Given the description of an element on the screen output the (x, y) to click on. 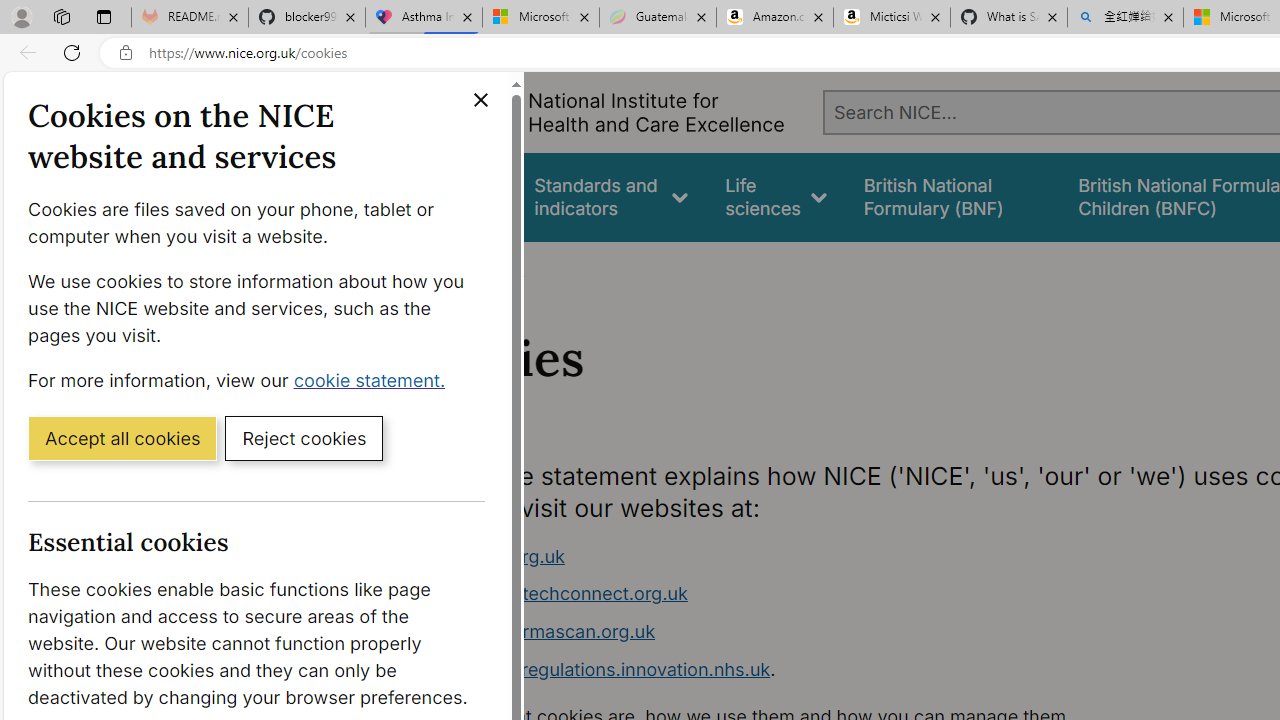
About (498, 268)
Home> (433, 268)
www.digitalregulations.innovation.nhs.uk. (796, 669)
Life sciences (776, 196)
www.healthtechconnect.org.uk (554, 593)
Accept all cookies (122, 437)
www.ukpharmascan.org.uk (538, 631)
Guidance (458, 196)
false (952, 196)
Close cookie banner (480, 99)
